Given the description of an element on the screen output the (x, y) to click on. 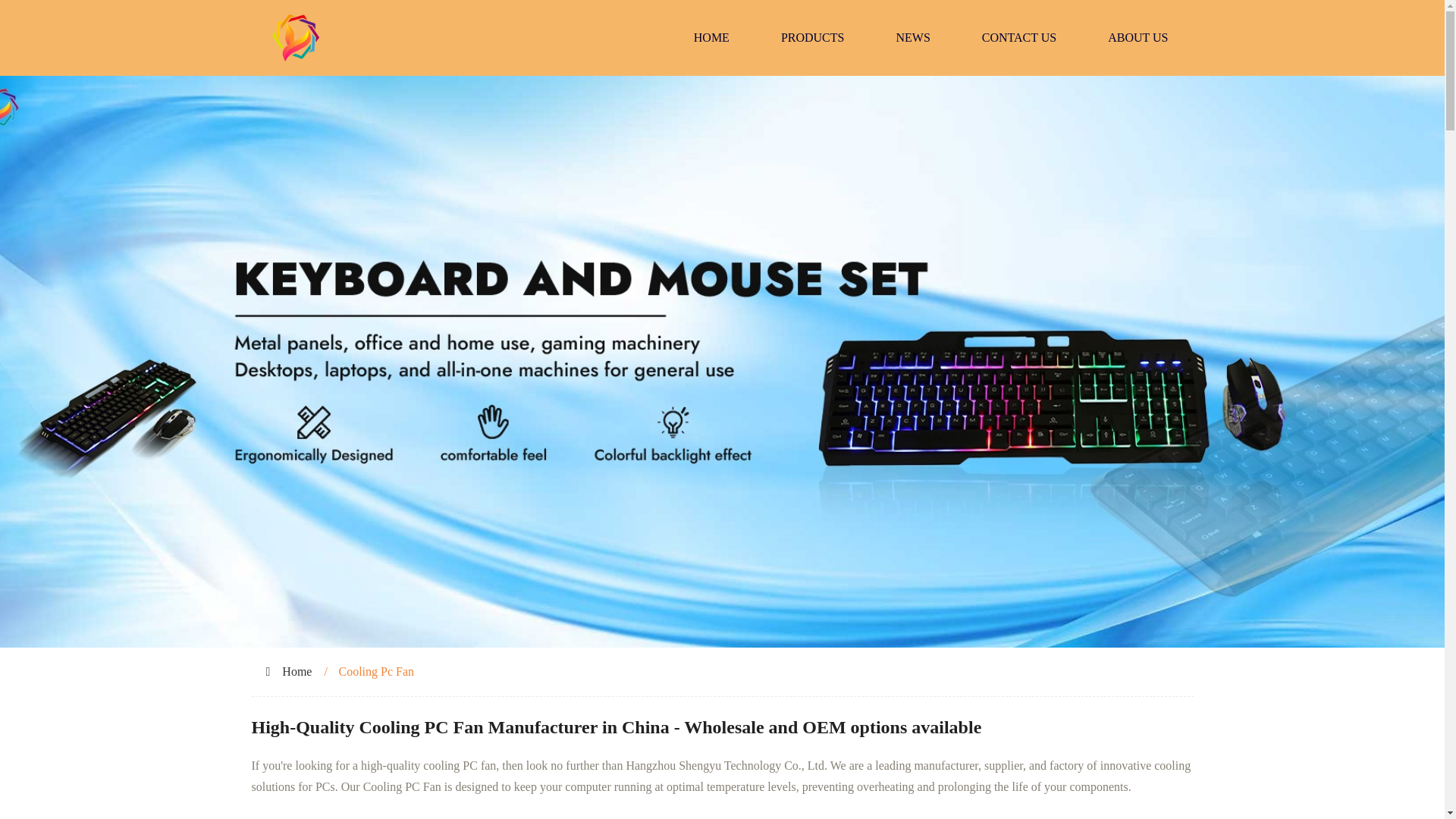
PRODUCTS (812, 38)
Home (296, 671)
CONTACT US (1018, 38)
